Given the description of an element on the screen output the (x, y) to click on. 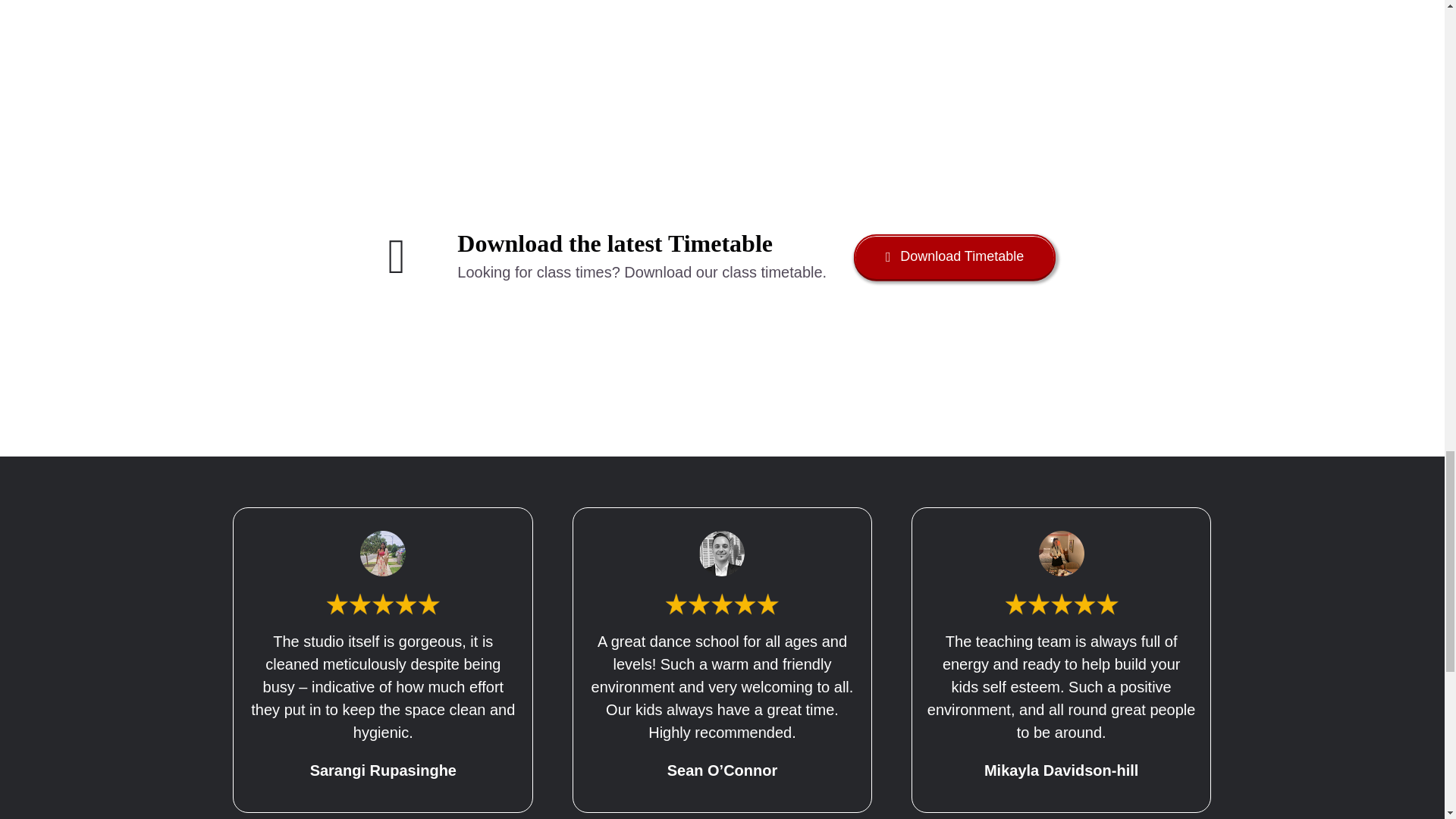
Download Timetable (954, 256)
Sean (721, 553)
5-stars (1061, 603)
Mikayla (1061, 553)
5-stars (382, 603)
5-stars (721, 603)
Sarangi (382, 553)
